Given the description of an element on the screen output the (x, y) to click on. 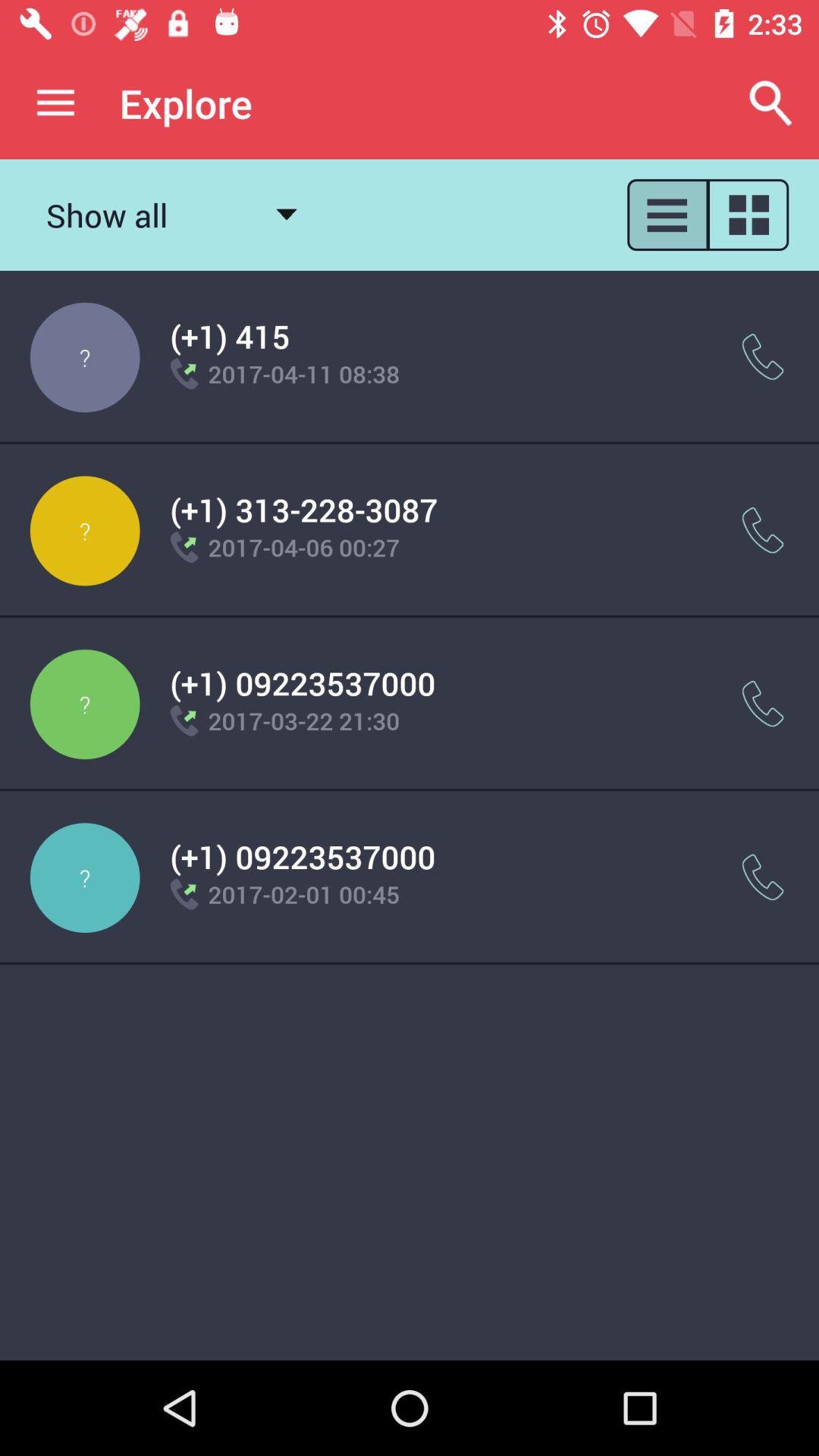
call this number (762, 530)
